Given the description of an element on the screen output the (x, y) to click on. 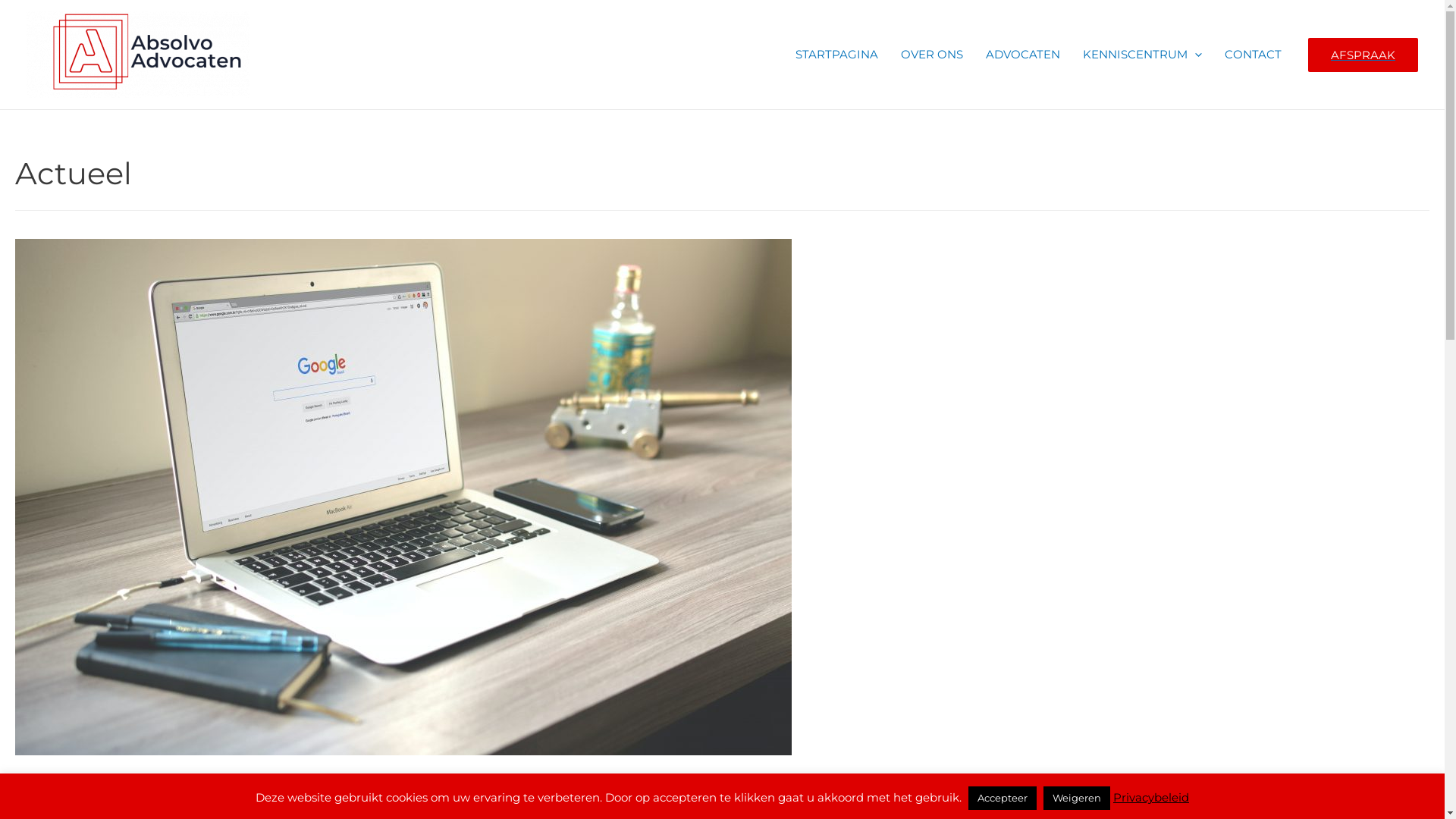
OVER ONS Element type: text (931, 54)
Weigeren Element type: text (1076, 797)
AFSPRAAK Element type: text (1363, 54)
ADVOCATEN Element type: text (1022, 54)
STARTPAGINA Element type: text (836, 54)
CONTACT Element type: text (1252, 54)
Accepteer Element type: text (1002, 797)
KENNISCENTRUM Element type: text (1142, 54)
Privacybeleid Element type: text (1151, 797)
